Given the description of an element on the screen output the (x, y) to click on. 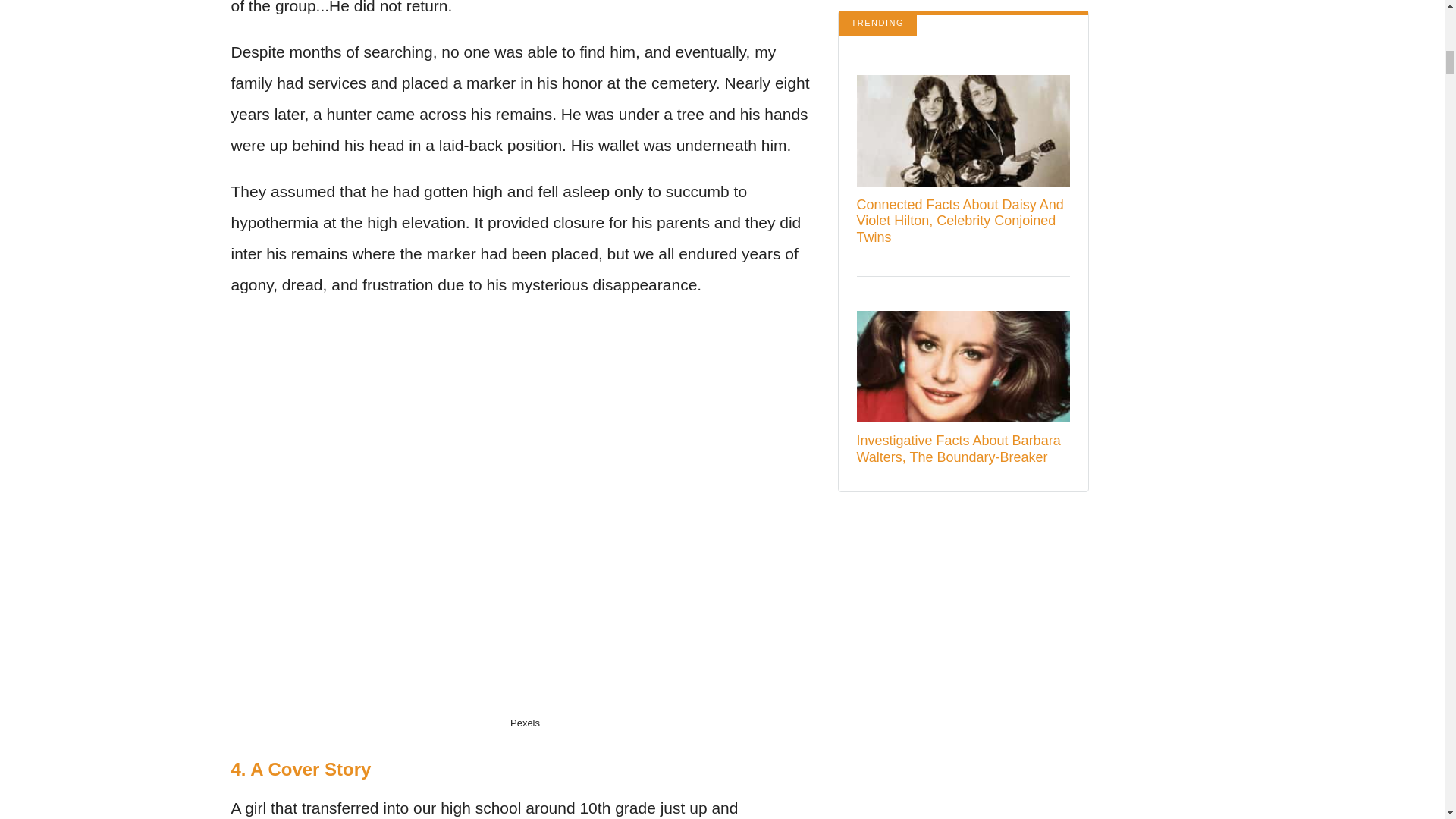
Pexels (525, 722)
